Given the description of an element on the screen output the (x, y) to click on. 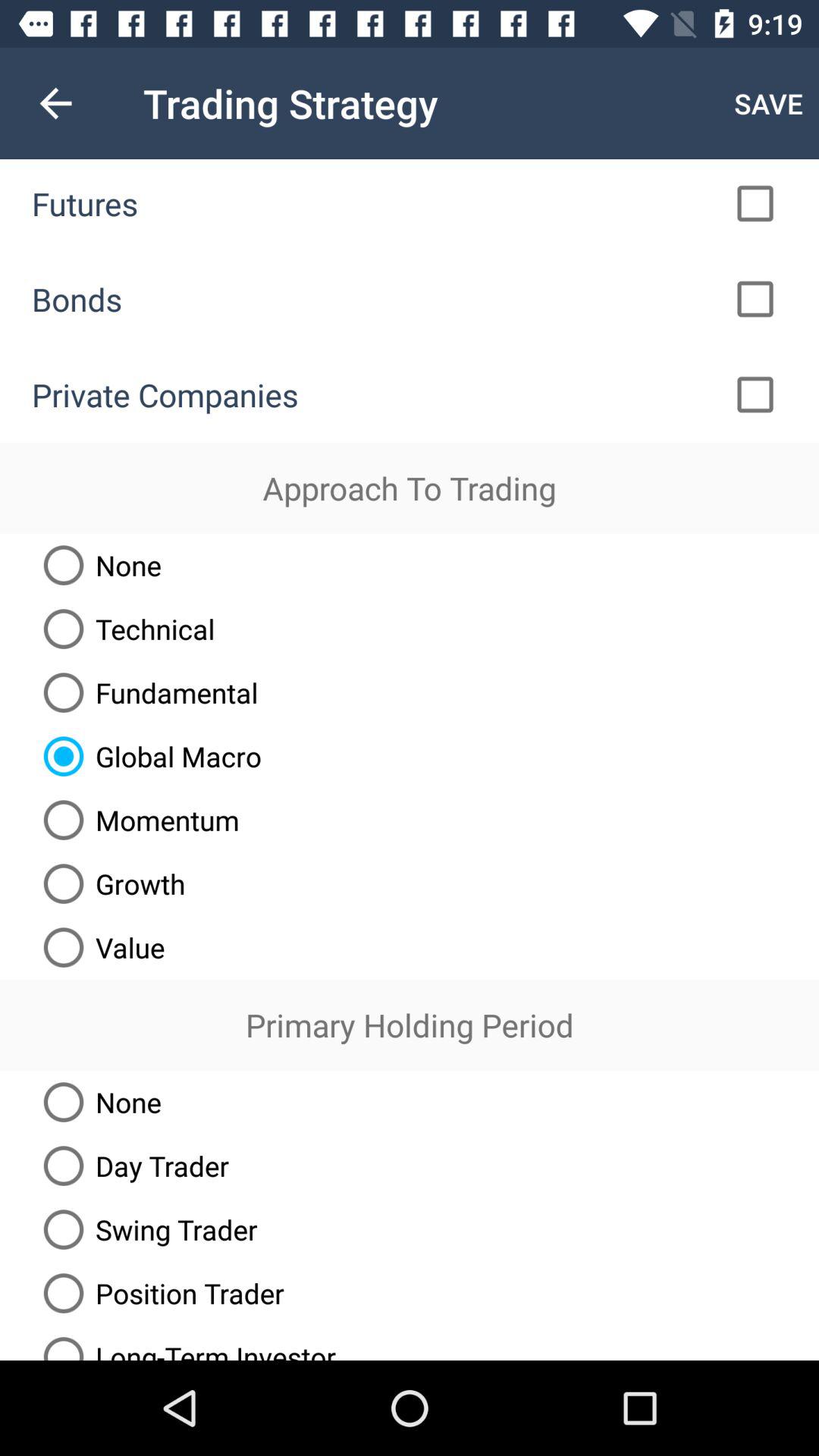
scroll until value icon (97, 947)
